Given the description of an element on the screen output the (x, y) to click on. 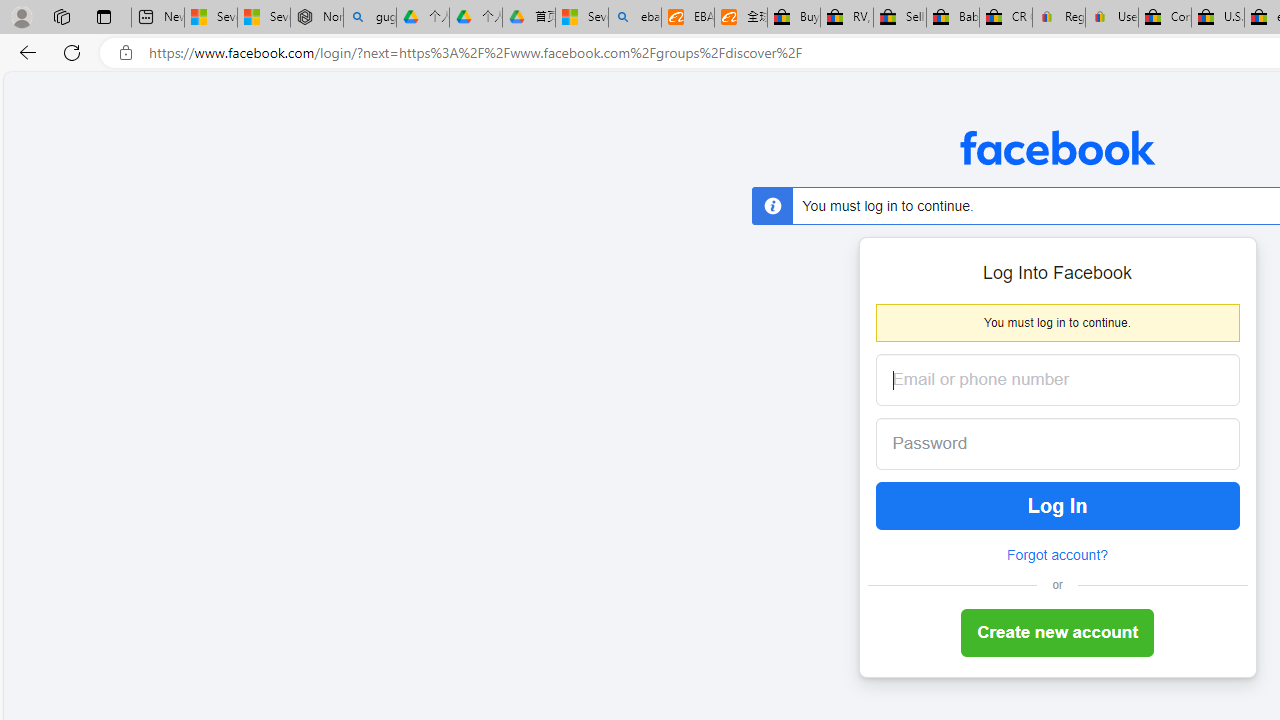
Facebook (1056, 147)
Log In (1057, 506)
Password (1042, 443)
Register: Create a personal eBay account (1059, 17)
Create new account (1057, 633)
User Privacy Notice | eBay (1111, 17)
Baby Keepsakes & Announcements for sale | eBay (952, 17)
Sell worldwide with eBay (899, 17)
U.S. State Privacy Disclosures - eBay Inc. (1217, 17)
